Given the description of an element on the screen output the (x, y) to click on. 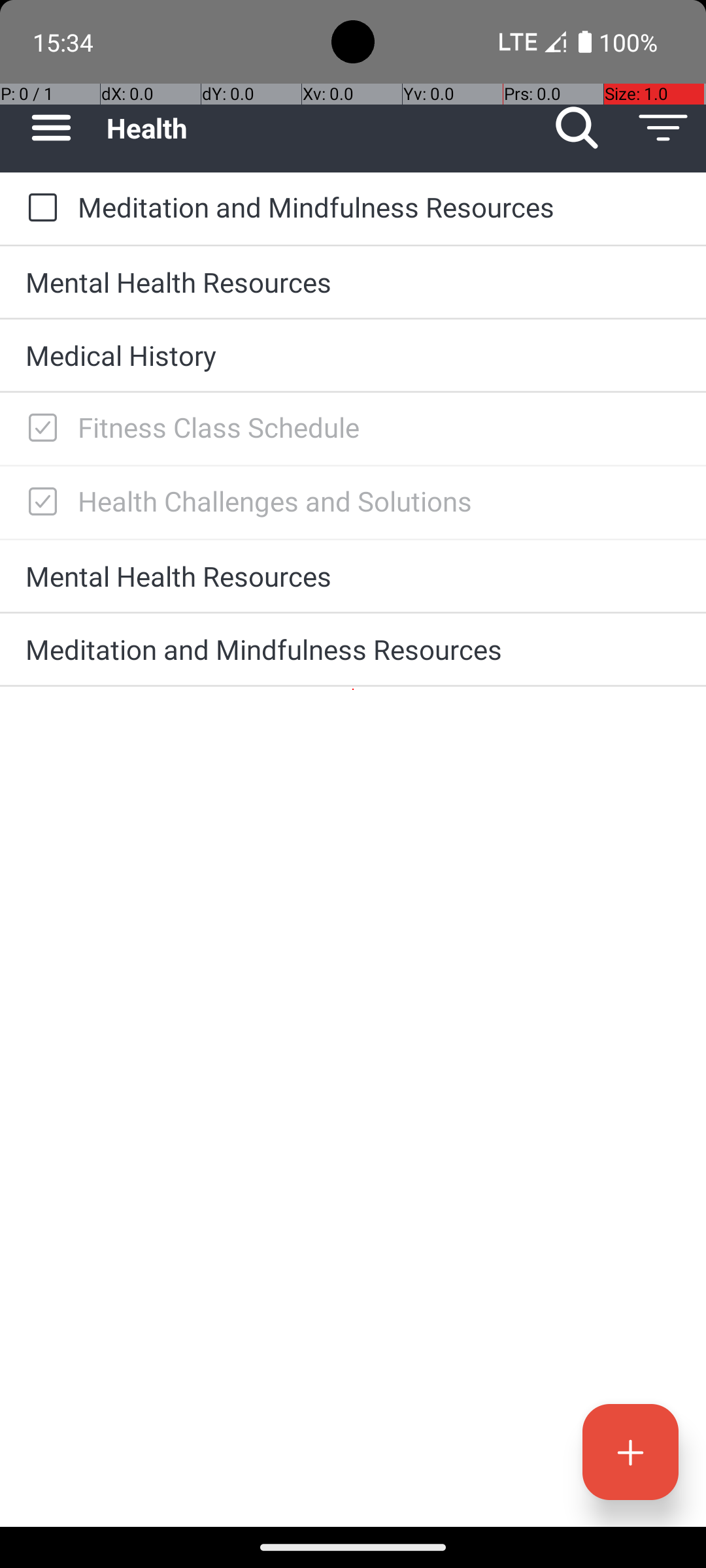
to-do: Meditation and Mindfulness Resources Element type: android.widget.CheckBox (38, 208)
Meditation and Mindfulness Resources Element type: android.widget.TextView (378, 206)
Mental Health Resources Element type: android.widget.TextView (352, 281)
Medical History Element type: android.widget.TextView (352, 354)
to-do: Fitness Class Schedule Element type: android.widget.CheckBox (38, 428)
Fitness Class Schedule Element type: android.widget.TextView (378, 426)
to-do: Health Challenges and Solutions Element type: android.widget.CheckBox (38, 502)
Health Challenges and Solutions Element type: android.widget.TextView (378, 500)
